Given the description of an element on the screen output the (x, y) to click on. 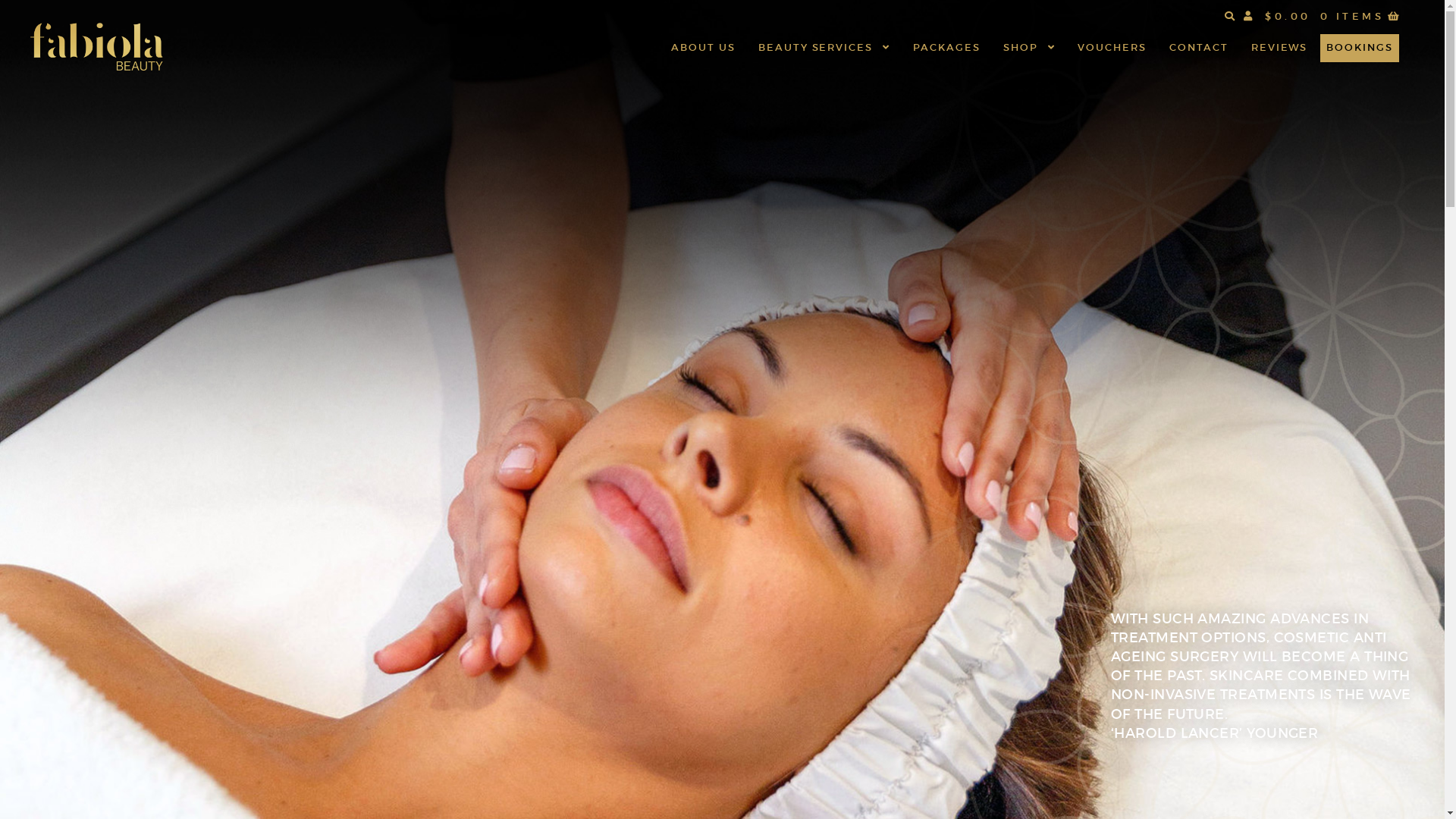
VOUCHERS Element type: text (1111, 47)
(02) 4228 3229 Element type: text (985, 598)
SHOP Element type: text (1029, 47)
REVIEWS Element type: text (1279, 47)
CONTACT Element type: text (1198, 47)
ABOUT US Element type: text (703, 47)
Email Fabiola Beauty Element type: text (1003, 615)
BOOKINGS Element type: text (1359, 48)
Cancellation Policy Element type: text (431, 788)
Shipping & Returns Element type: text (340, 788)
PACKAGES Element type: text (946, 47)
BEAUTY SERVICES Element type: text (824, 47)
$0.00 0 ITEMS Element type: text (1333, 16)
Privacy Policy Element type: text (261, 788)
Website Design + Development | 101 Design Element type: text (1319, 788)
